Given the description of an element on the screen output the (x, y) to click on. 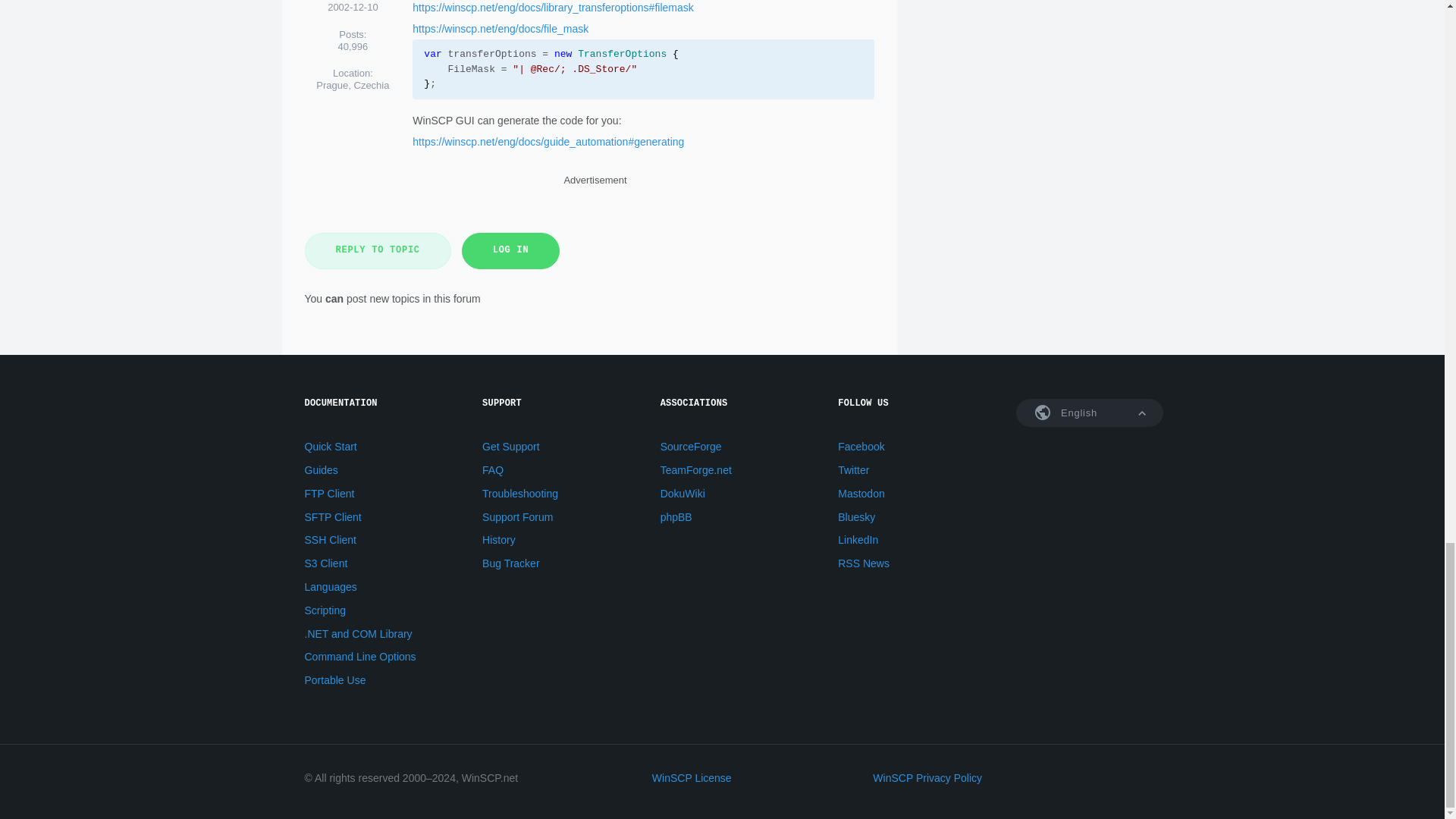
TransferOptions (622, 53)
REPLY TO TOPIC (377, 250)
LOG IN (510, 250)
Prague, Czechia (351, 84)
